Given the description of an element on the screen output the (x, y) to click on. 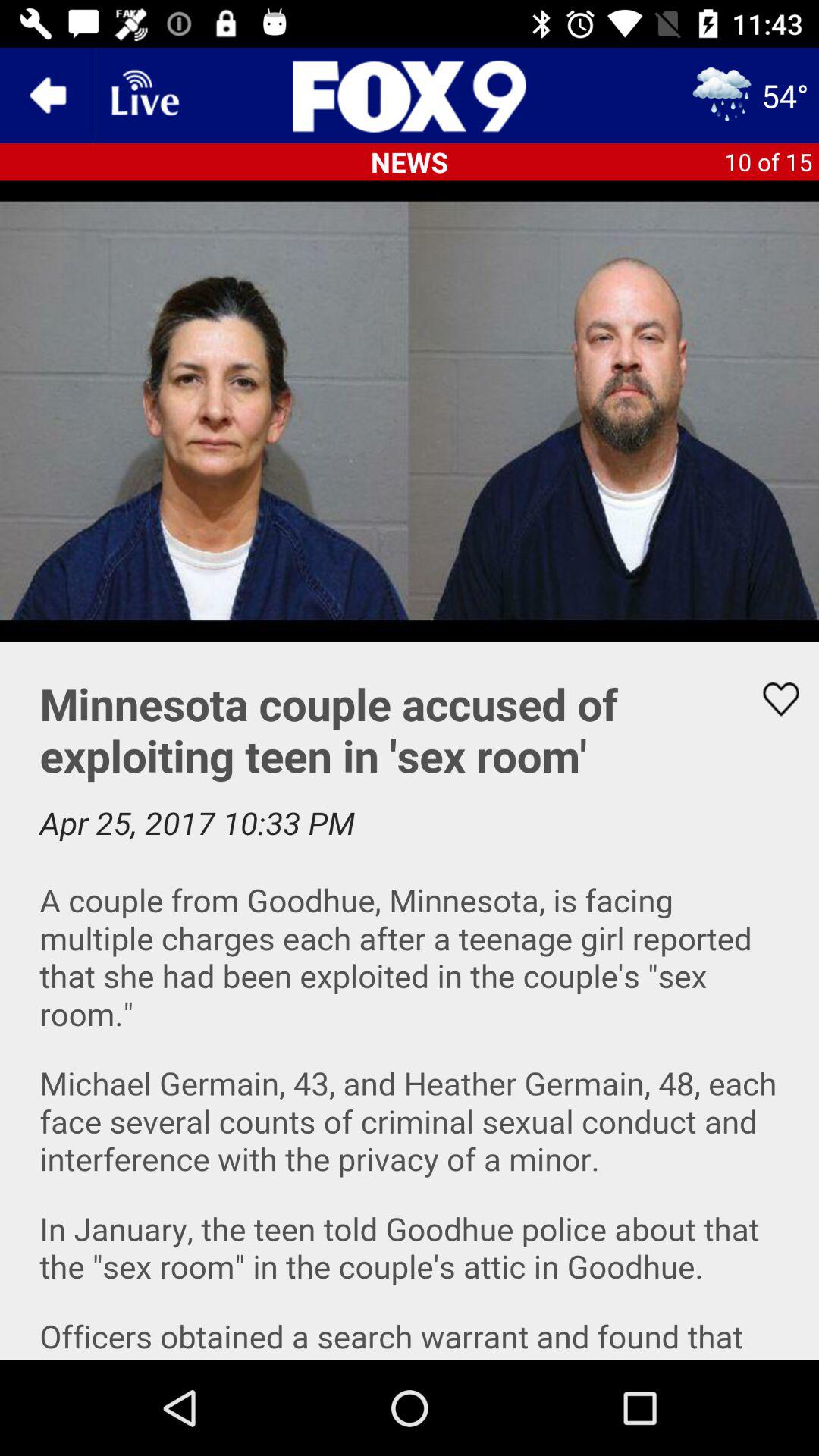
favorite (771, 699)
